Given the description of an element on the screen output the (x, y) to click on. 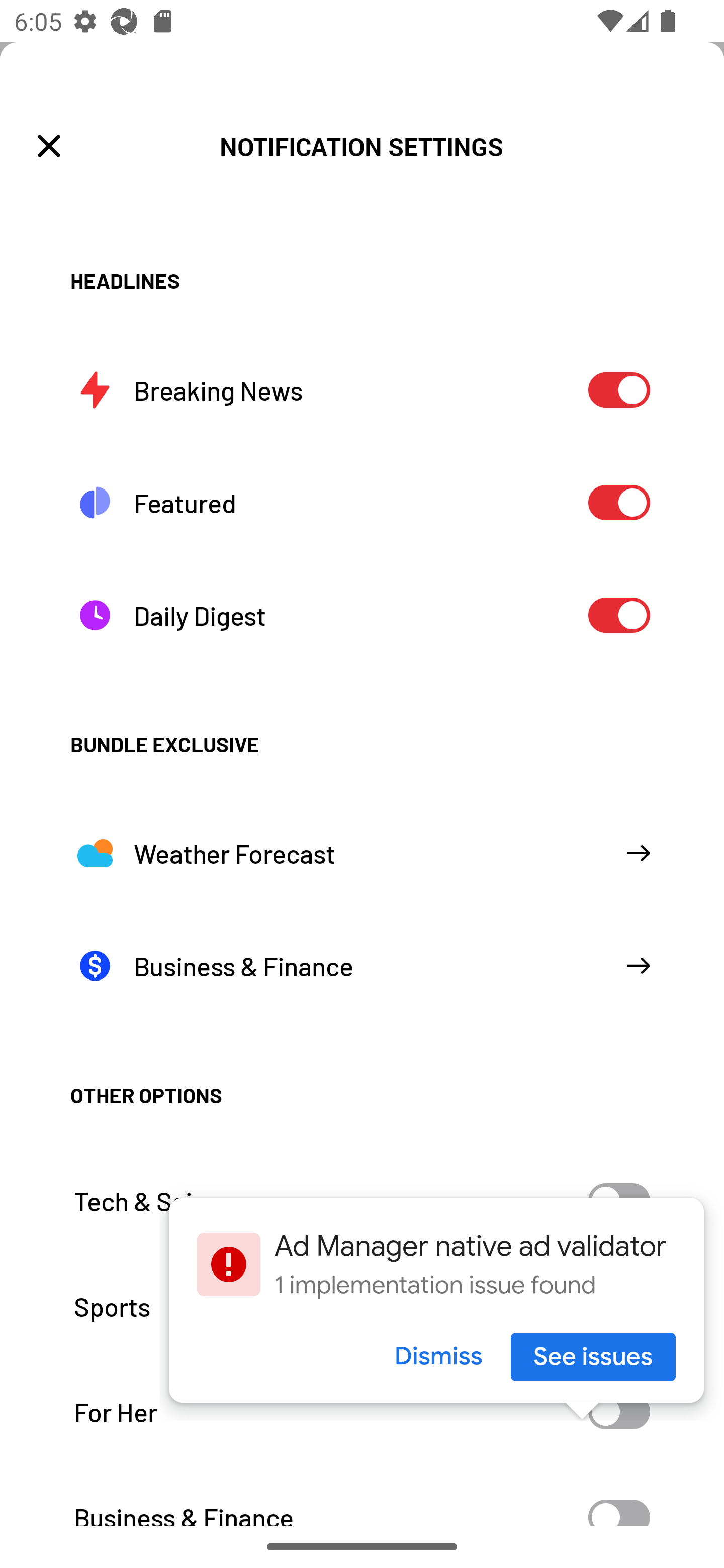
Leading Icon (49, 147)
